Given the description of an element on the screen output the (x, y) to click on. 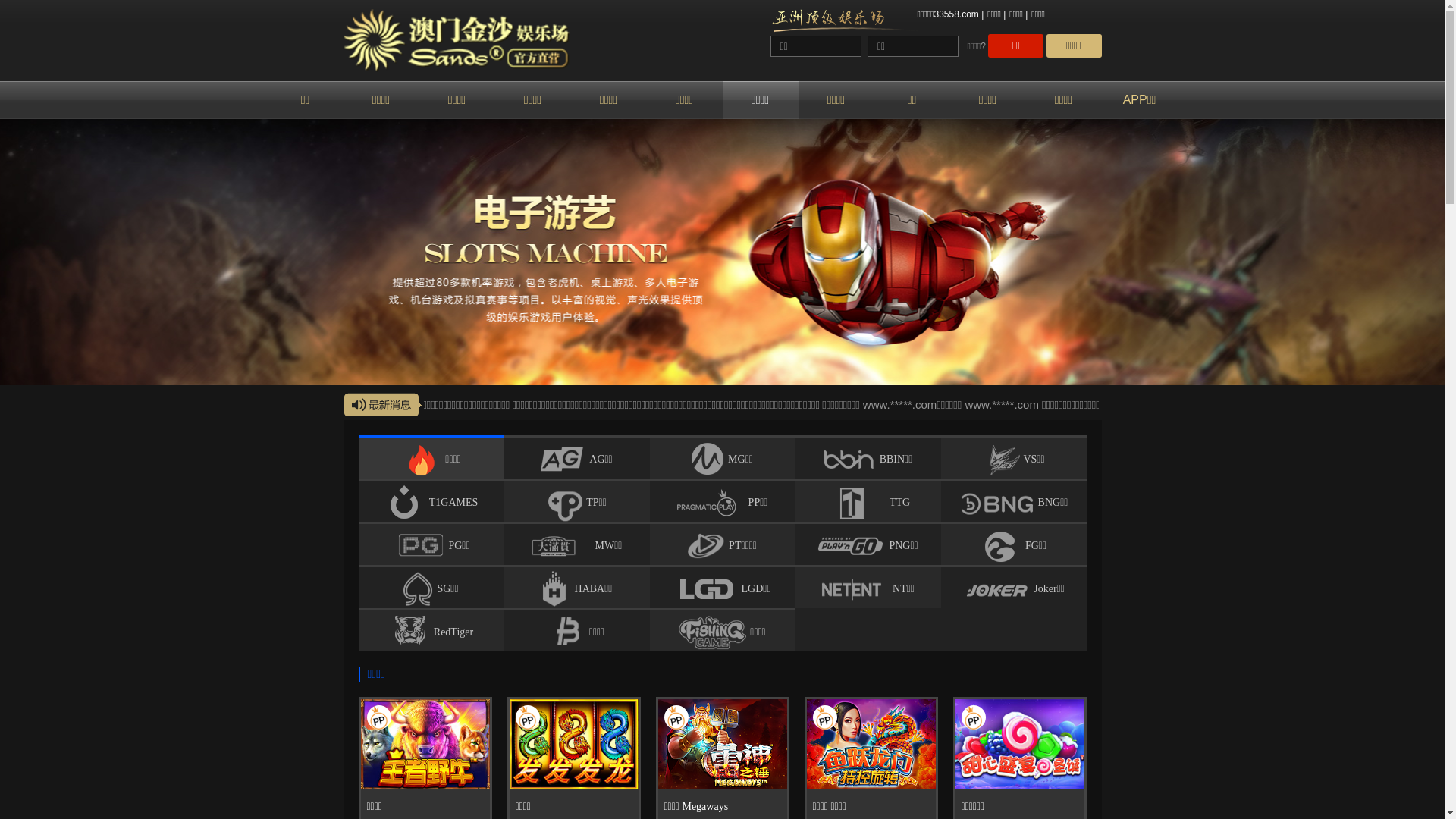
T1GAMES Element type: text (430, 500)
RedTiger Element type: text (430, 630)
TTG Element type: text (867, 500)
